Given the description of an element on the screen output the (x, y) to click on. 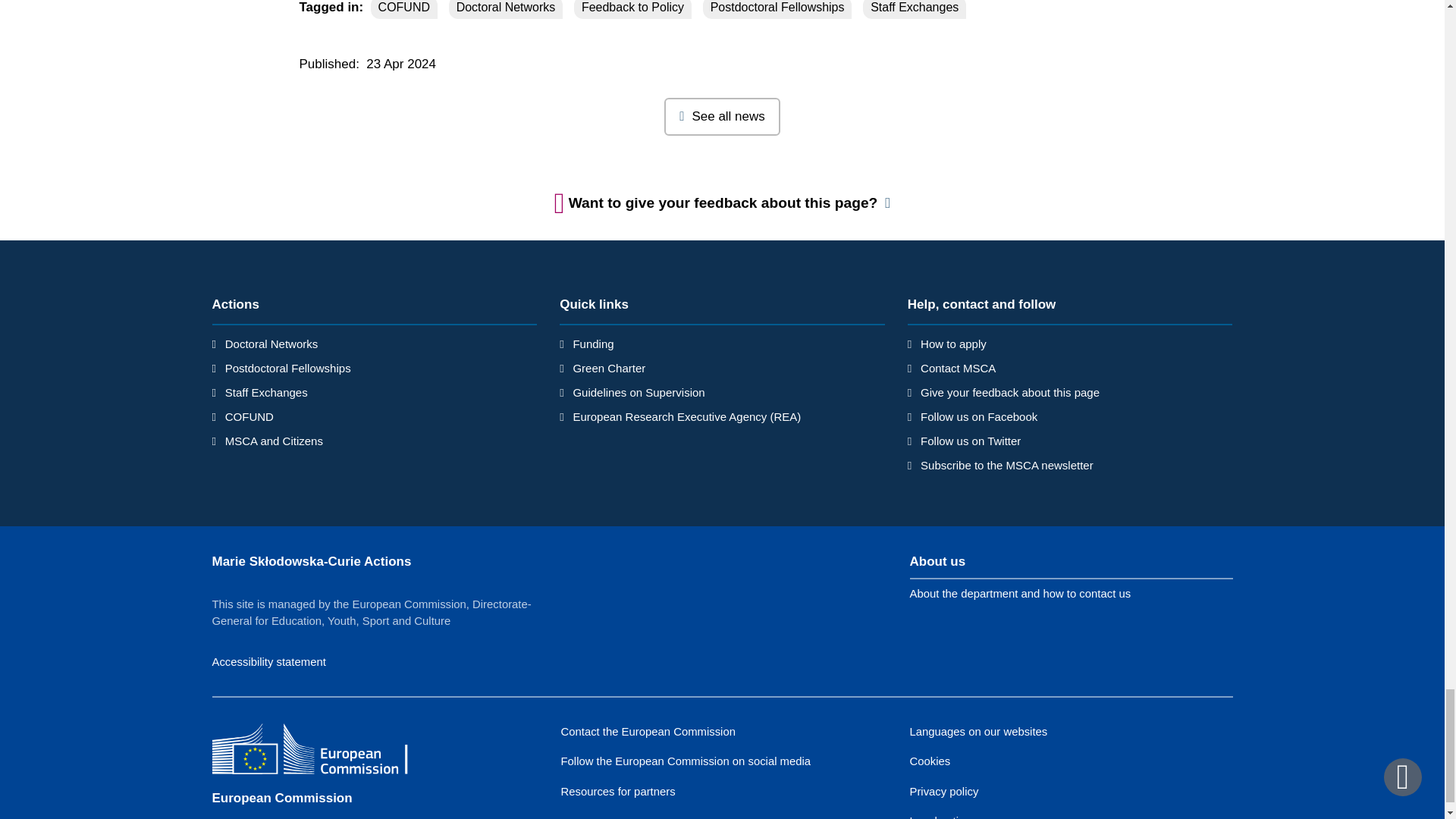
European Commission (322, 750)
See all news (721, 116)
Want to give your feedback about this page? (722, 203)
